Given the description of an element on the screen output the (x, y) to click on. 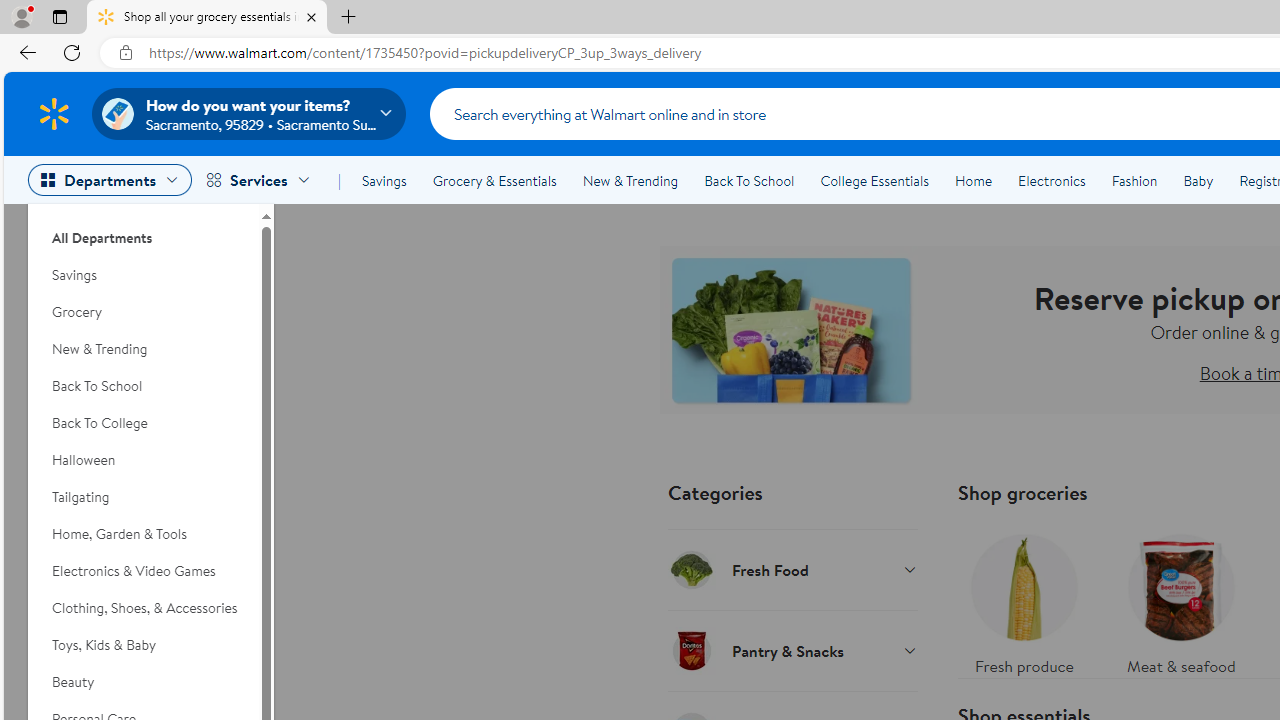
Savings (384, 180)
Grocery (143, 312)
Walmart Homepage (53, 113)
Back To College (143, 423)
Baby (1197, 180)
Toys, Kids & Baby (143, 645)
Beauty (143, 682)
Electronics (1051, 180)
All Departments (143, 230)
